Given the description of an element on the screen output the (x, y) to click on. 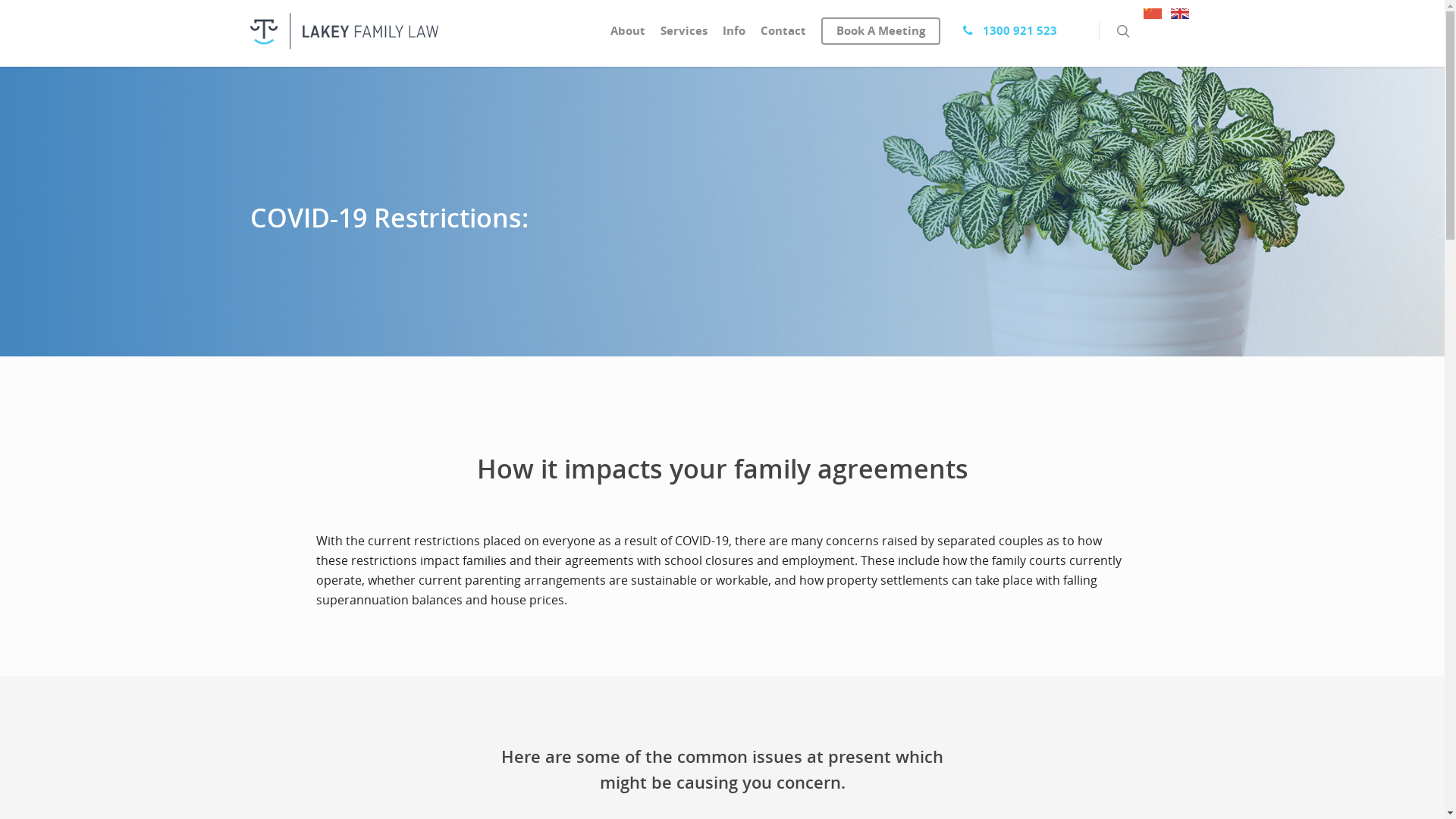
Chinese (Simplified) Element type: hover (1153, 12)
Contact Element type: text (783, 34)
Info Element type: text (733, 34)
1300 921 523 Element type: text (1006, 35)
About Element type: text (627, 34)
English Element type: hover (1180, 12)
Book A Meeting Element type: text (880, 34)
Services Element type: text (683, 34)
